Given the description of an element on the screen output the (x, y) to click on. 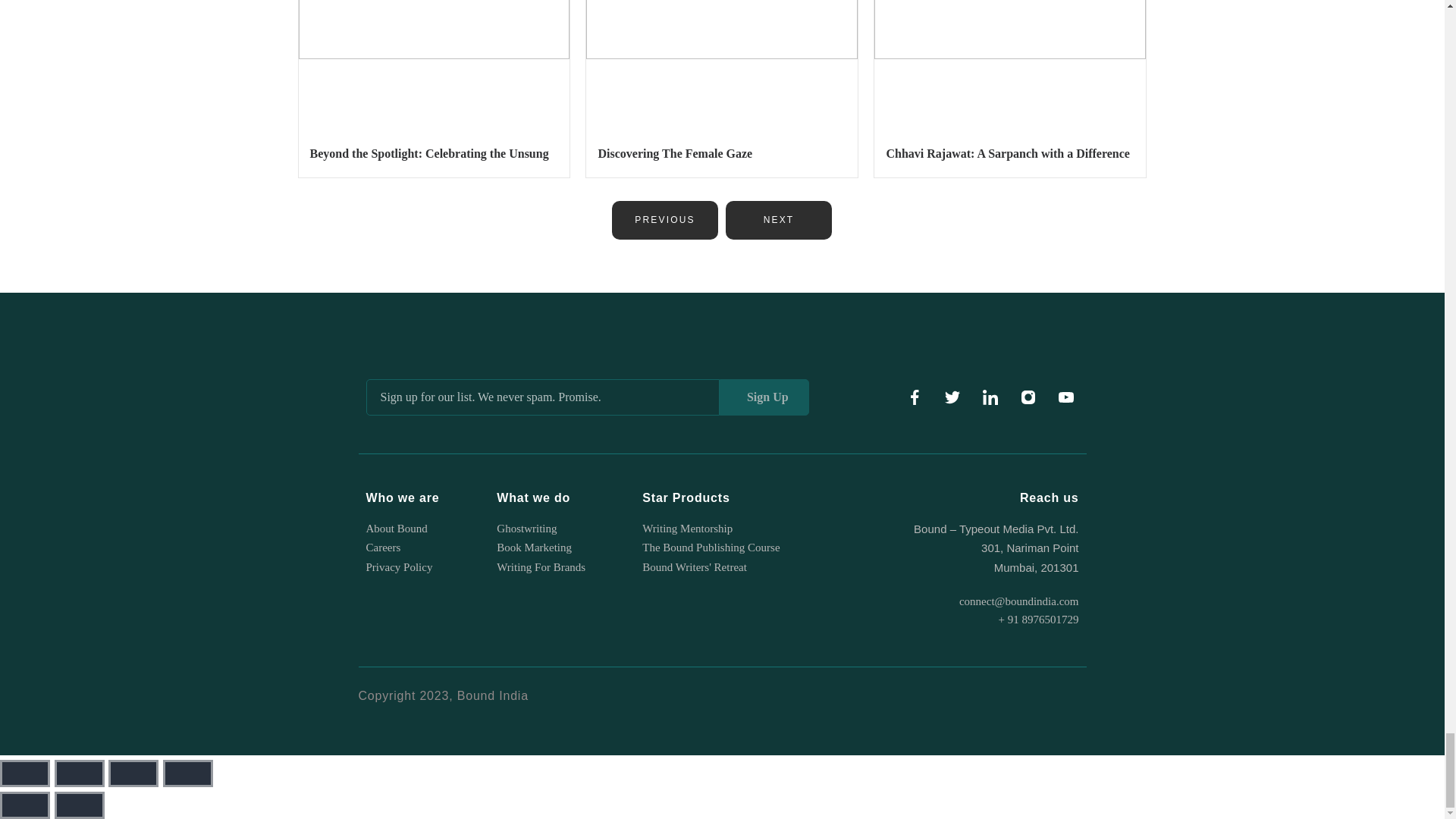
Beyond the Spotlight: Celebrating the Unsung (428, 153)
Chhavi Rajawat: A Sarpanch with a Difference (1007, 153)
Sign Up (764, 397)
Discovering The Female Gaze (674, 153)
